Given the description of an element on the screen output the (x, y) to click on. 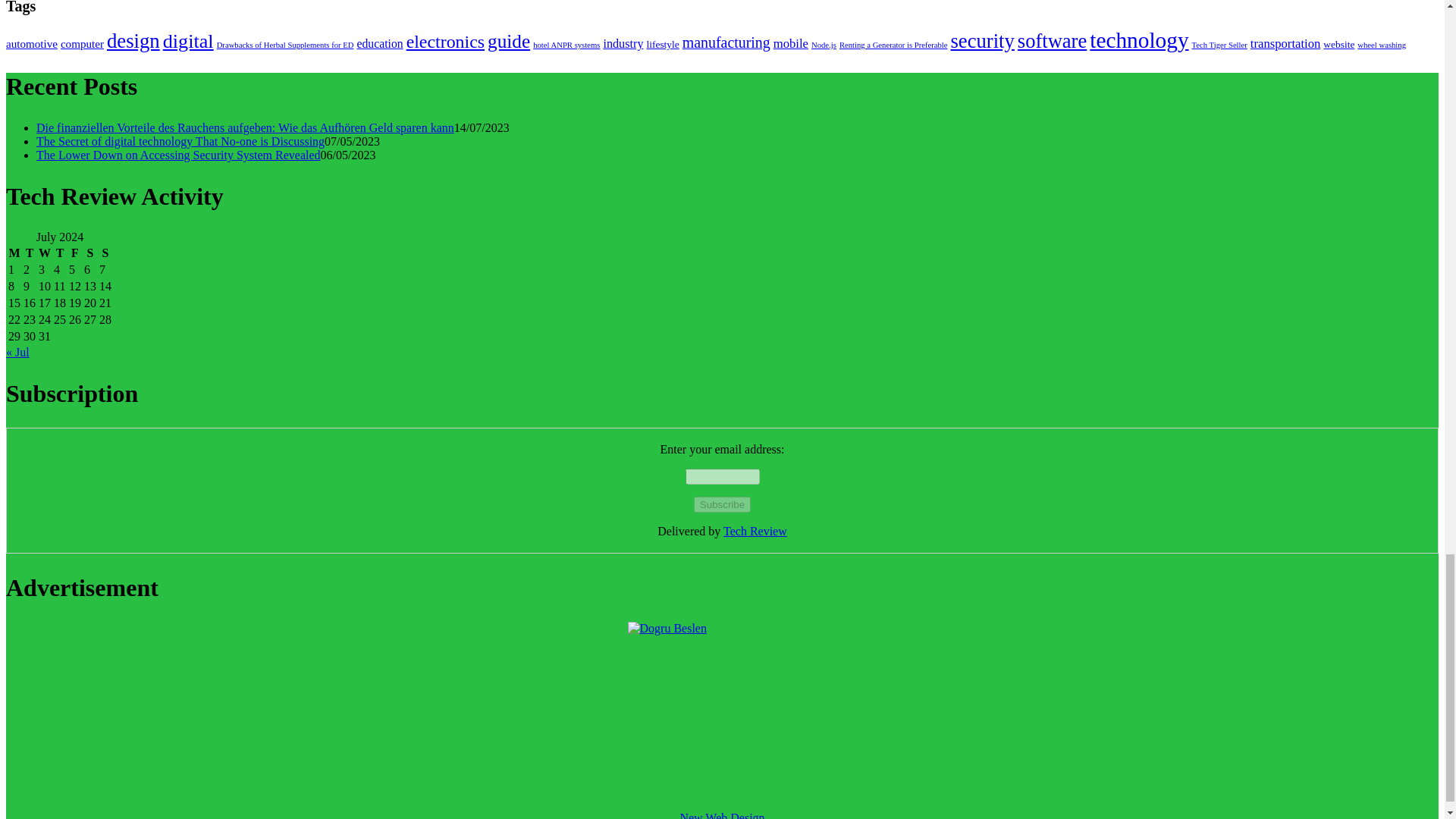
Sunday (105, 253)
Wednesday (43, 253)
Subscribe (722, 504)
Friday (74, 253)
Thursday (59, 253)
Saturday (89, 253)
Monday (14, 253)
Dogru Beslen (721, 716)
Tuesday (29, 253)
